Given the description of an element on the screen output the (x, y) to click on. 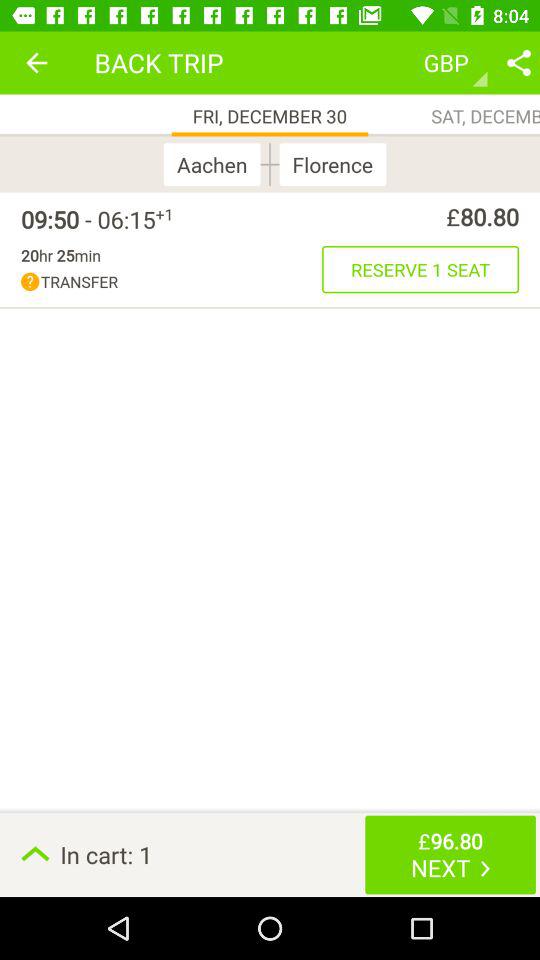
swipe until 09 50 06 icon (88, 219)
